Given the description of an element on the screen output the (x, y) to click on. 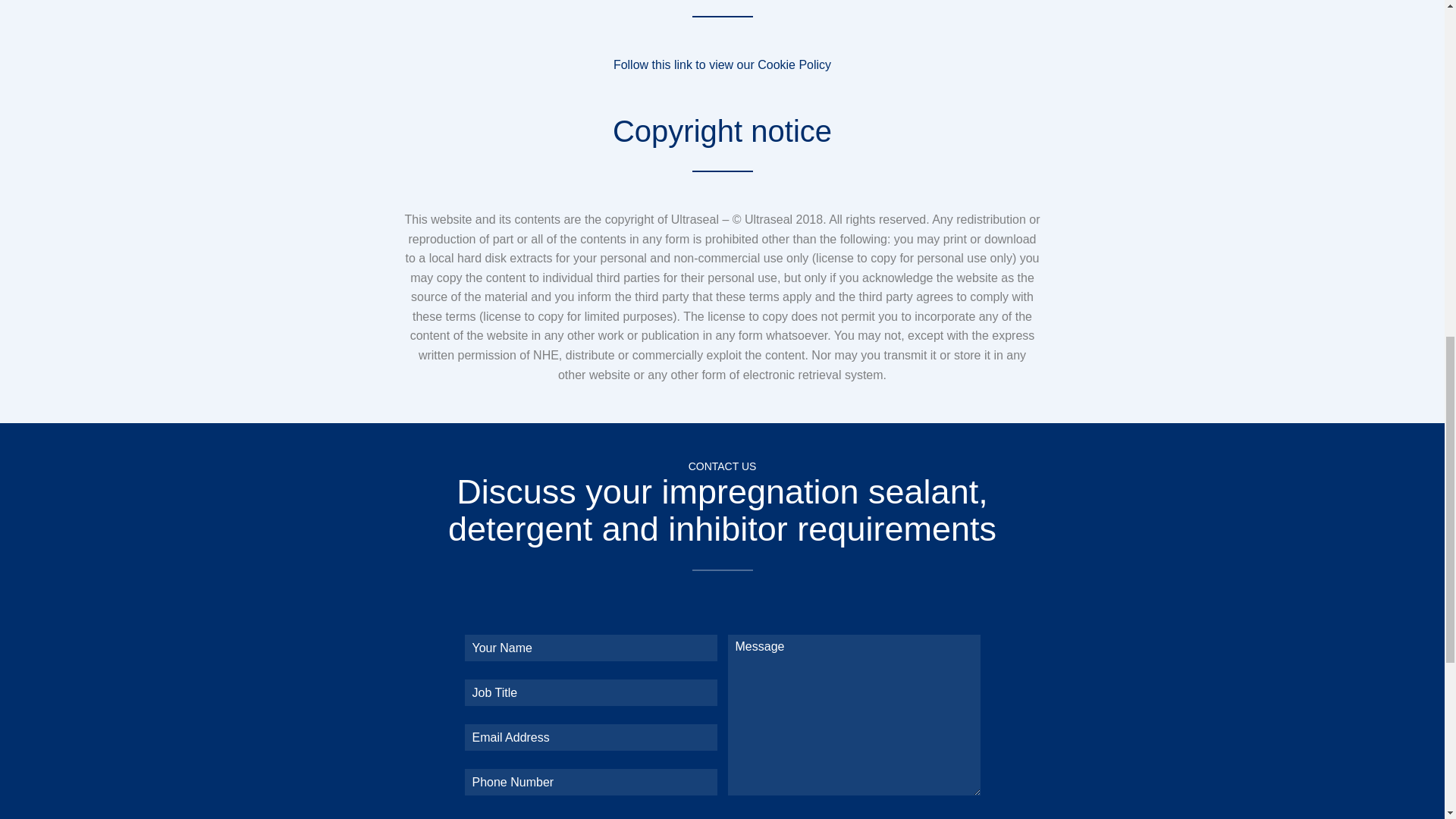
Follow this link to view our Cookie Policy (721, 64)
